Given the description of an element on the screen output the (x, y) to click on. 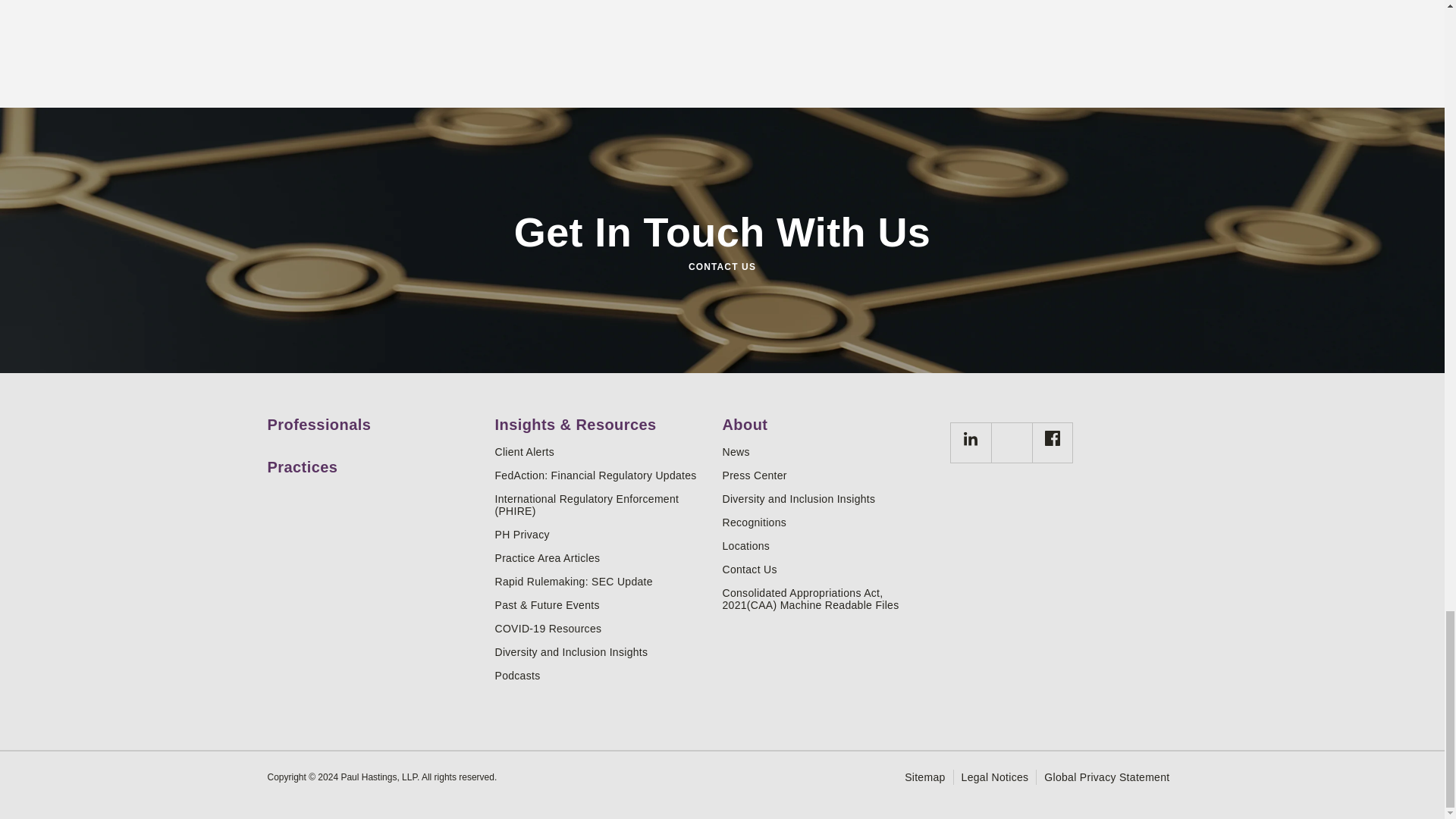
CB6A0679-7CD4-47AB-9AF9-079521319001Created with sketchtool. (969, 442)
Sitemap (924, 776)
BC42128A-F0DE-4FE2-9372-6CDE6D4F5957Created with sketchtool. (1052, 437)
FedAction: Financial Regulatory Updates (602, 475)
CONTACT US (721, 266)
Recognitions (829, 522)
COVID-19 Resources (602, 628)
Client Alerts (602, 451)
PH Privacy (602, 534)
Contact Us (829, 569)
